Given the description of an element on the screen output the (x, y) to click on. 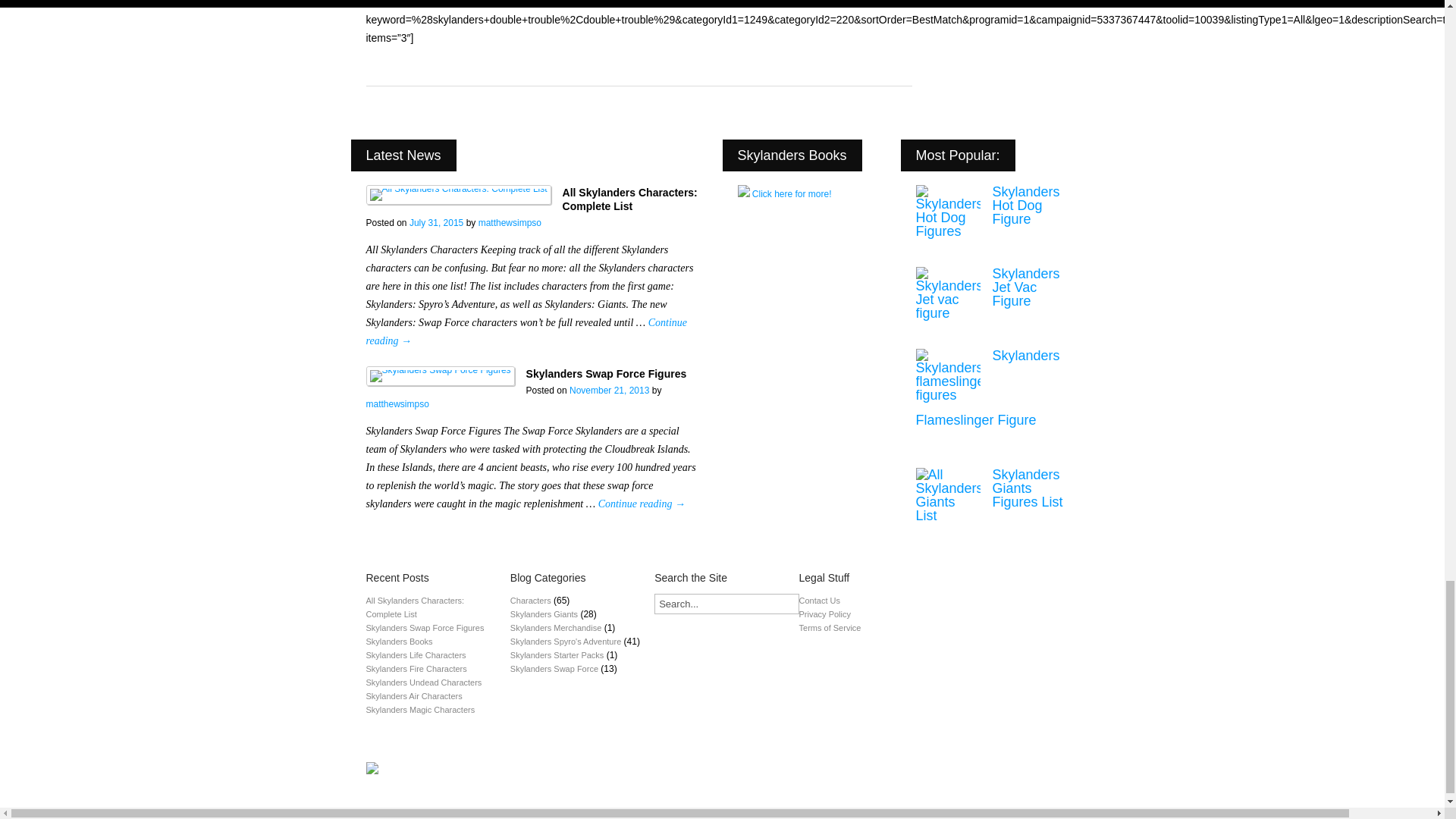
12:30 am (436, 222)
Search... (726, 603)
12:05 am (609, 389)
Search... (726, 603)
View all posts by matthewsimpso (510, 222)
View all posts by matthewsimpso (396, 403)
